Given the description of an element on the screen output the (x, y) to click on. 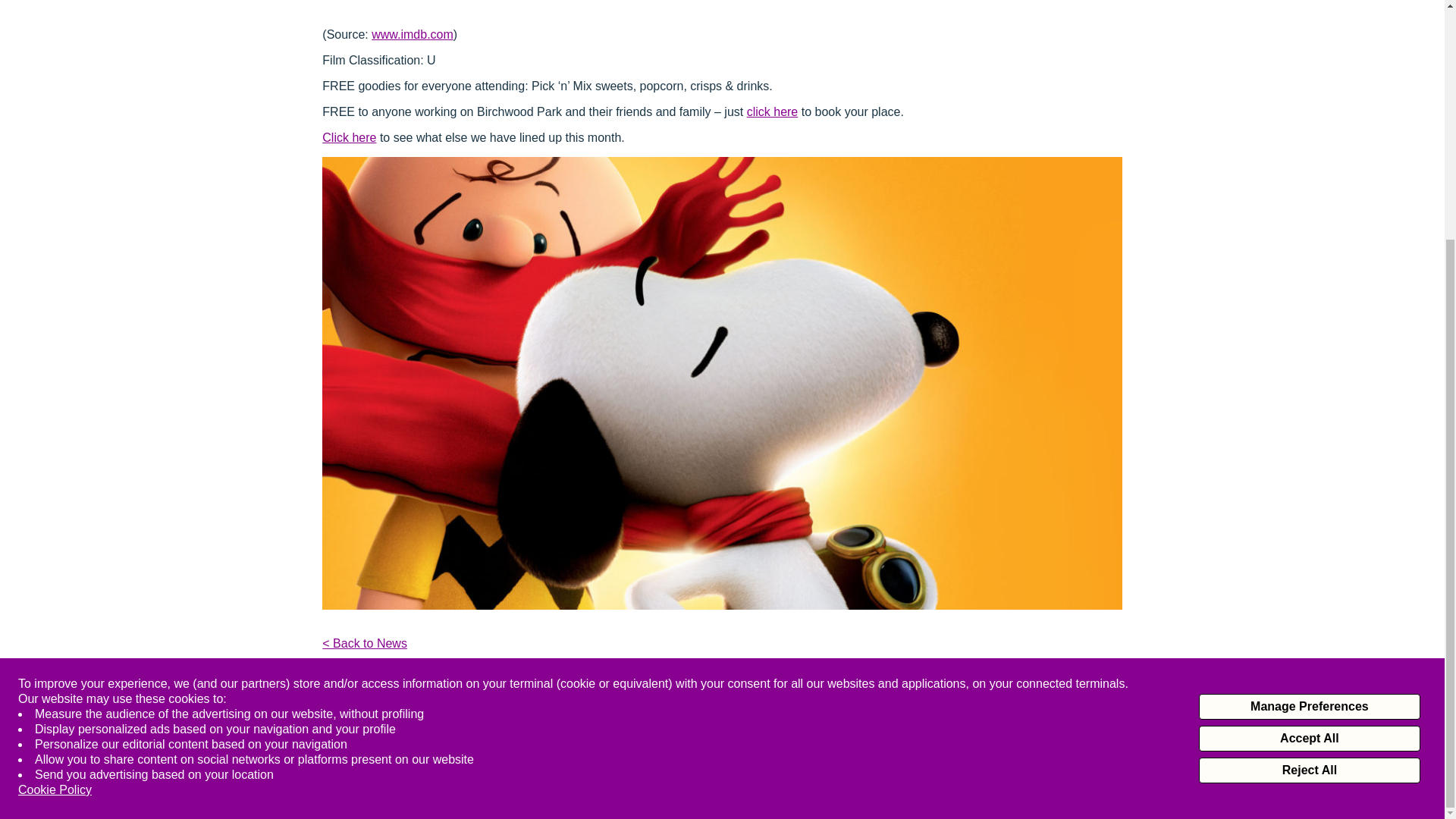
Click here (348, 137)
click here (771, 111)
Cookie Policy (54, 459)
www.imdb.com (411, 33)
Park Map (847, 721)
Manage Preferences (1309, 376)
Accept All (1309, 408)
Reject All (1309, 440)
